Given the description of an element on the screen output the (x, y) to click on. 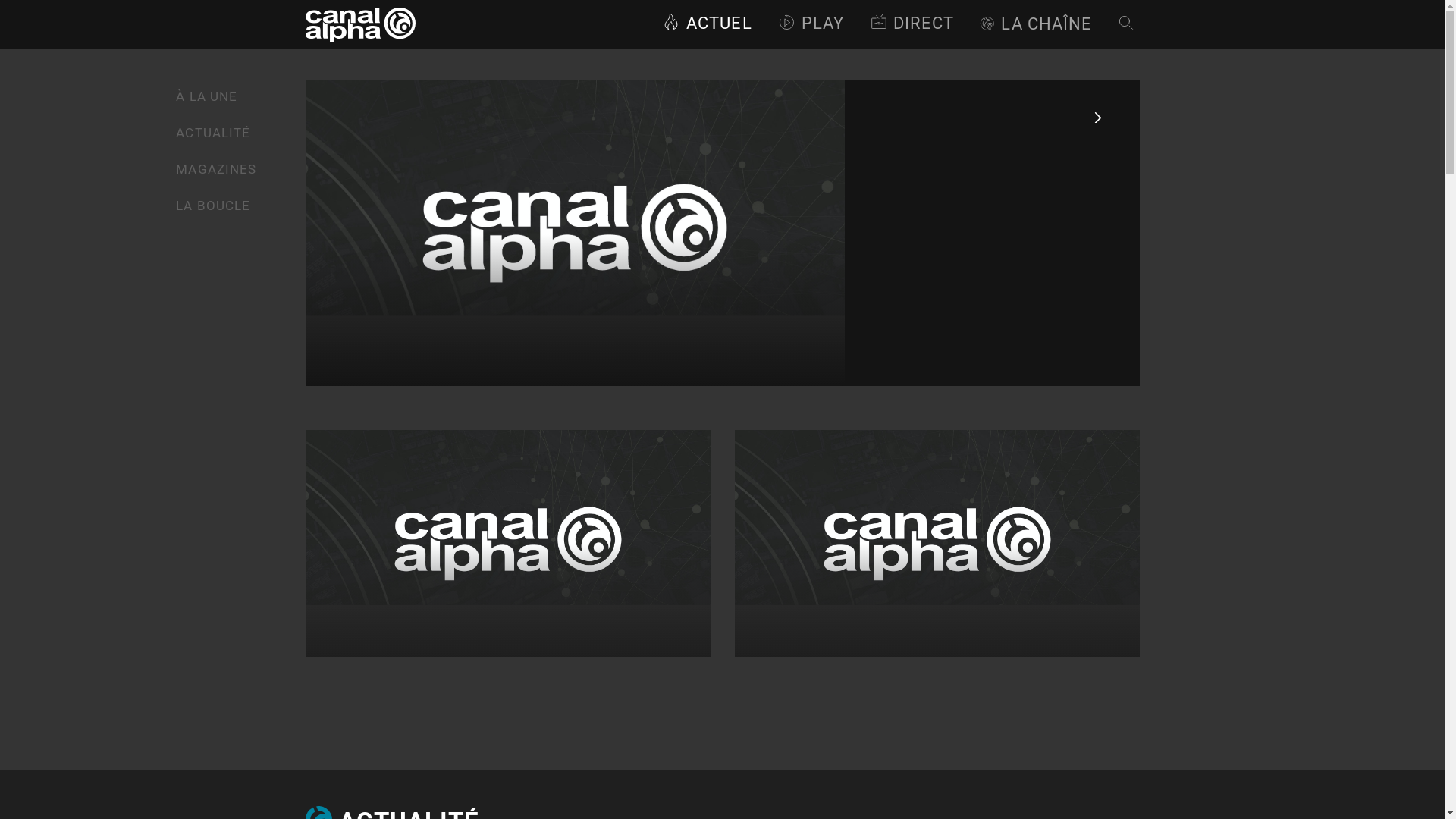
LA BOUCLE Element type: text (212, 205)
MAGAZINES Element type: text (215, 168)
PLAY_1 PLAY Element type: text (810, 23)
PROGRAMME DIRECT Element type: text (910, 23)
ACTUEL ACTUEL Element type: text (706, 23)
